Given the description of an element on the screen output the (x, y) to click on. 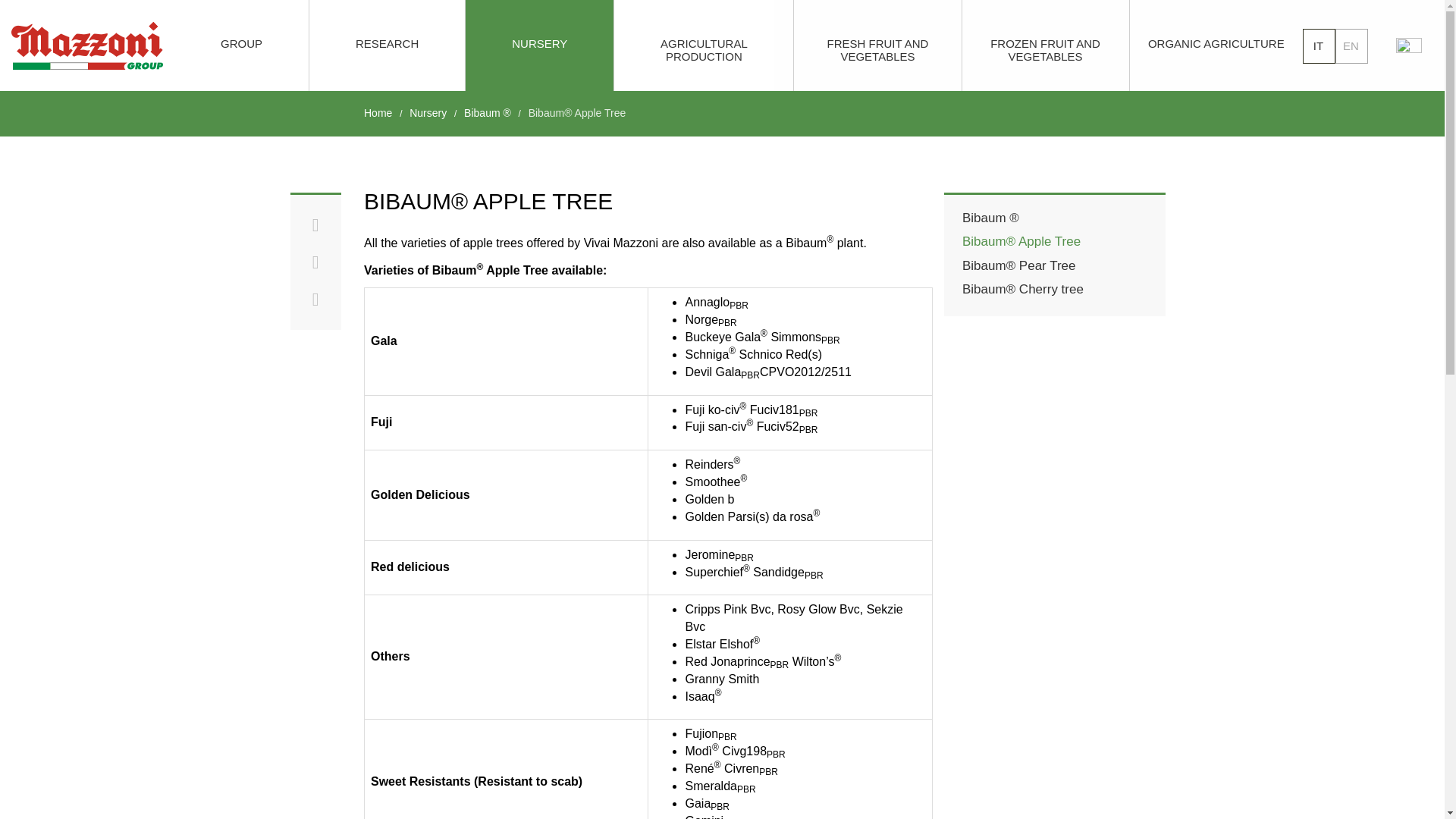
Vai a Mazzoni. (377, 112)
IT (1319, 45)
Mazzoni (87, 45)
Nursery (427, 112)
EN (1351, 45)
GROUP (241, 45)
FRESH FRUIT AND VEGETABLES (876, 45)
AGRICULTURAL PRODUCTION (703, 45)
RESEARCH (386, 45)
Home (377, 112)
